Given the description of an element on the screen output the (x, y) to click on. 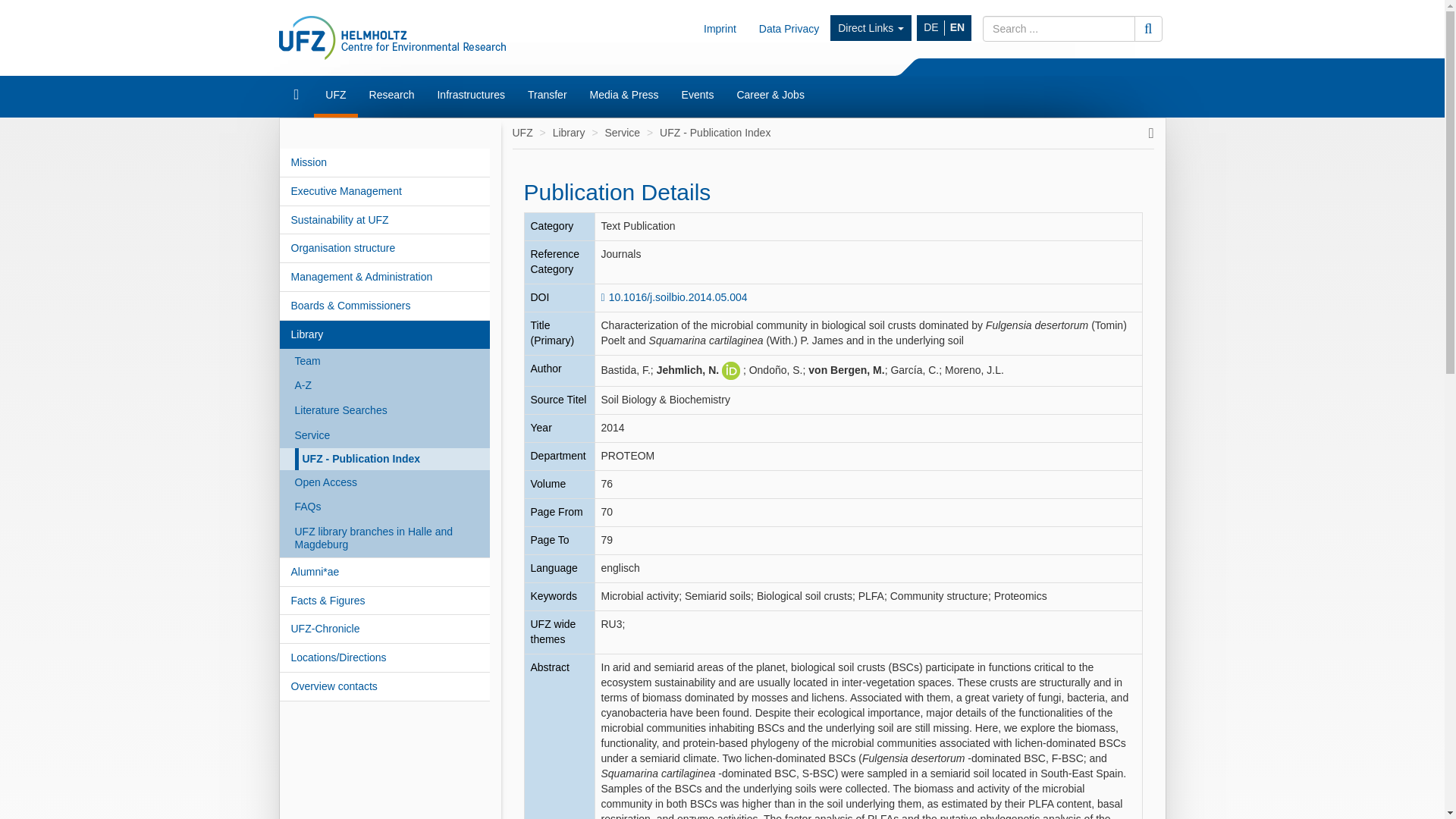
DE (930, 28)
search term (1058, 28)
Data Privacy (788, 28)
Imprint (720, 28)
EN (956, 28)
Direct Links (870, 27)
